Given the description of an element on the screen output the (x, y) to click on. 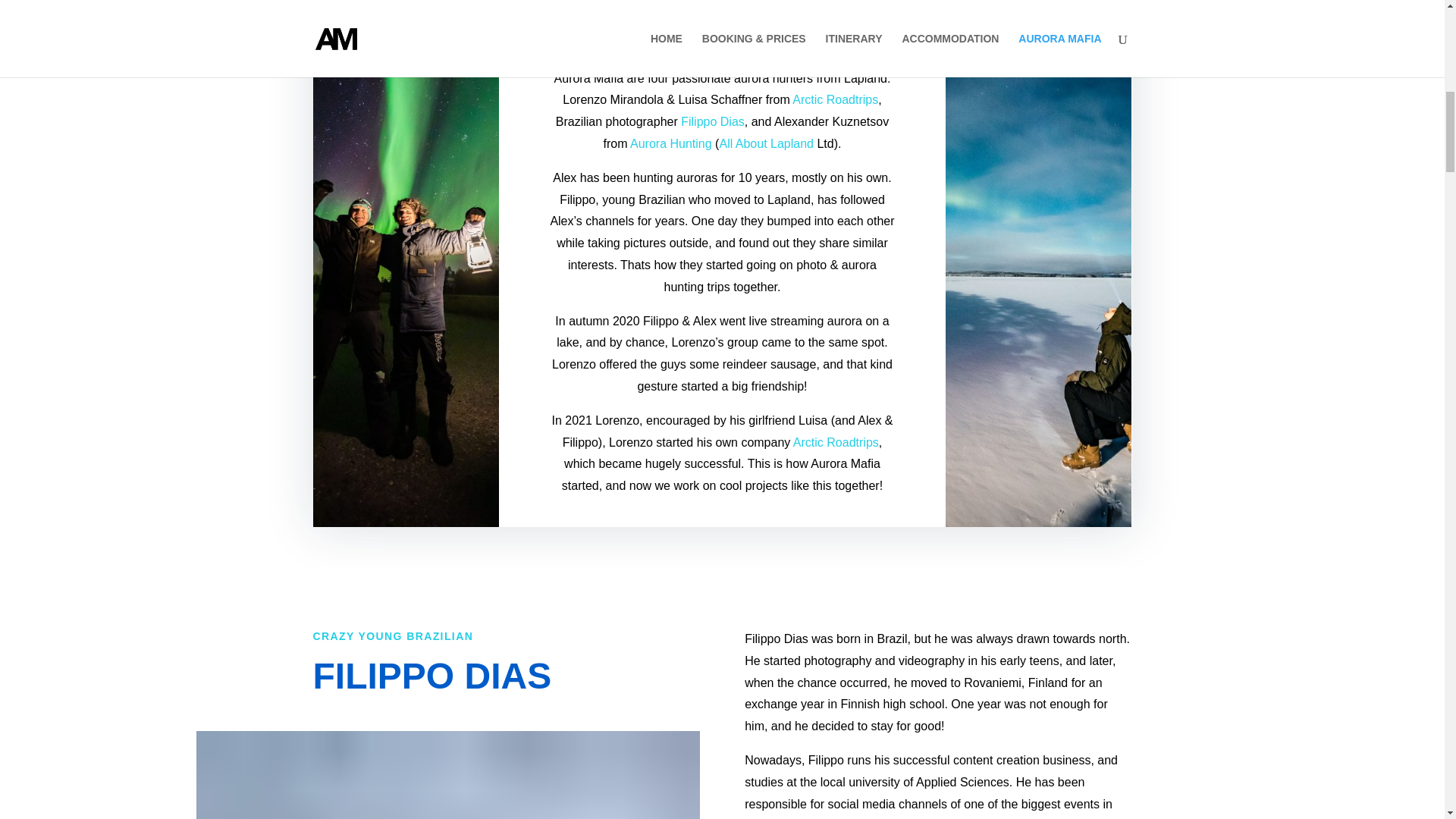
All About Lapland (766, 143)
Arctic Roadtrips (834, 99)
Filippo Dias (712, 121)
Aurora Hunting (670, 143)
Arctic Roadtrips (836, 441)
